Given the description of an element on the screen output the (x, y) to click on. 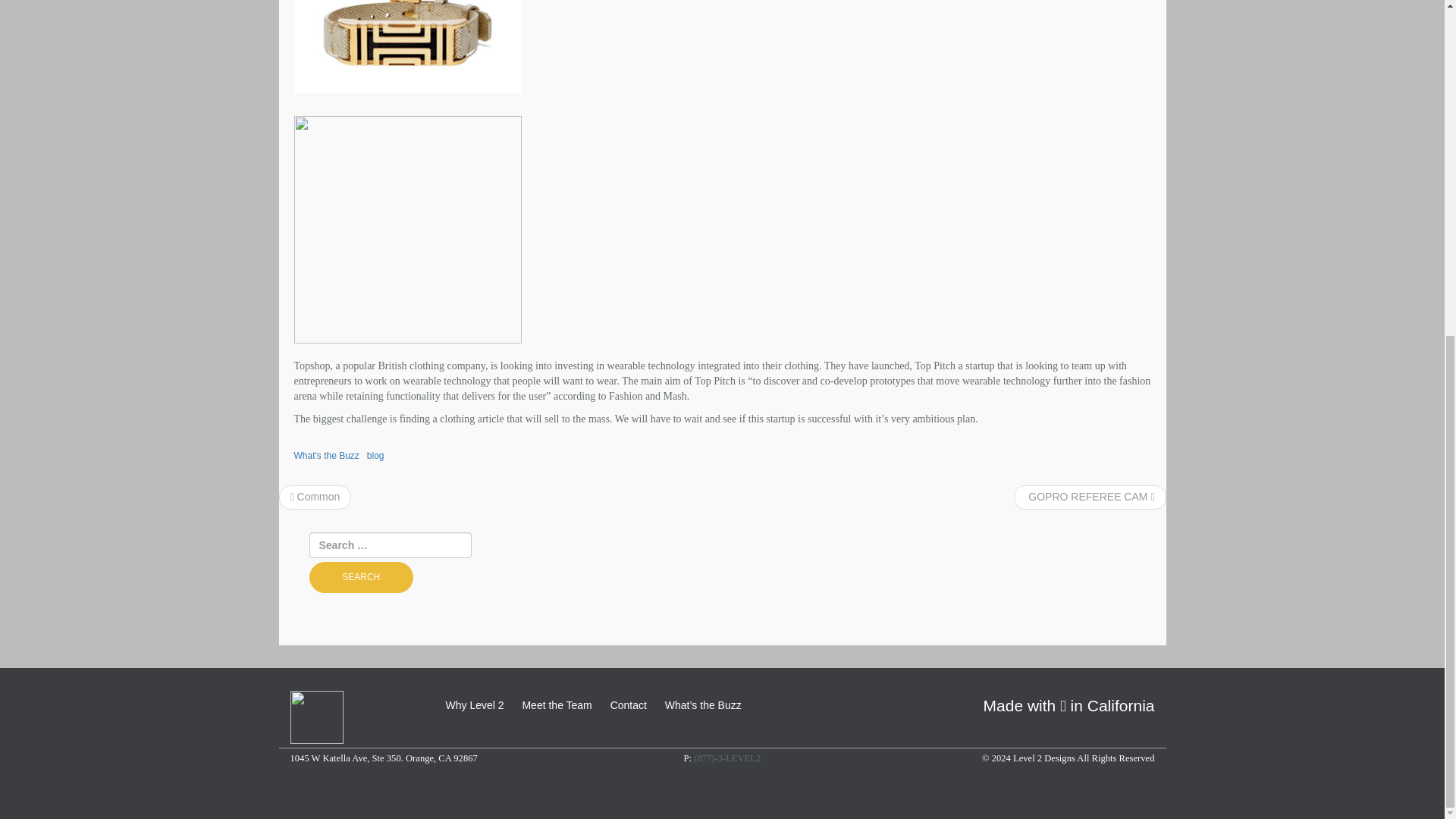
Search (360, 576)
Why Level 2 (474, 705)
 Common (314, 496)
Search for: (389, 544)
Meet the Team (556, 705)
Search (360, 576)
What's the Buzz (326, 455)
Search (360, 576)
blog (375, 455)
Contact (628, 705)
